Given the description of an element on the screen output the (x, y) to click on. 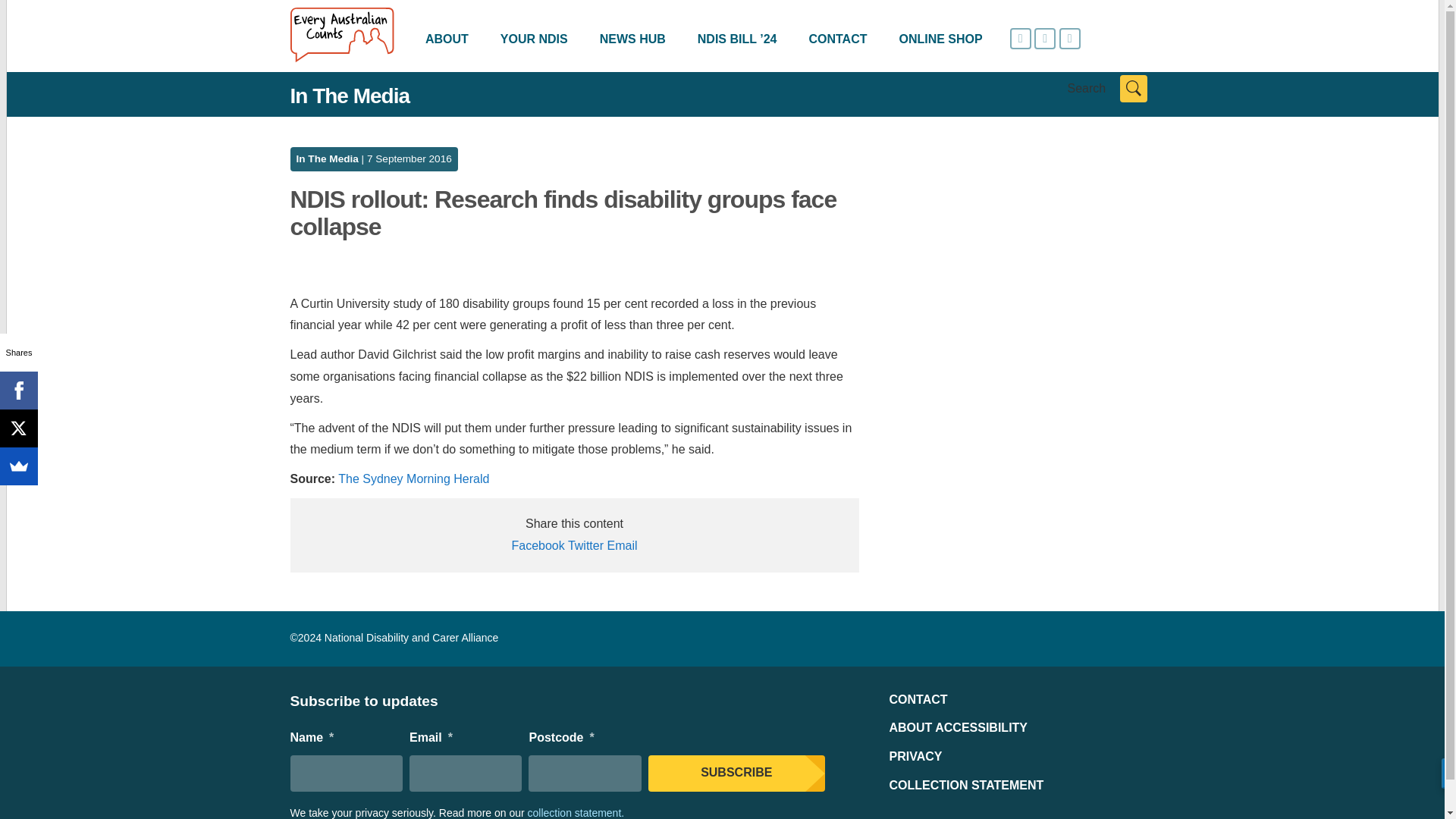
NEWS HUB (632, 39)
The Sydney Morning Herald (413, 478)
Search (1133, 88)
ABOUT ACCESSIBILITY (957, 727)
CONTACT (917, 698)
In The Media (326, 158)
Facebook (18, 390)
Share via Facebook (537, 545)
ABOUT (446, 39)
PRIVACY (915, 756)
ONLINE SHOP (940, 39)
Share via Email (622, 545)
Twitter (585, 545)
Share via Twitter (585, 545)
YOUR NDIS (534, 39)
